Given the description of an element on the screen output the (x, y) to click on. 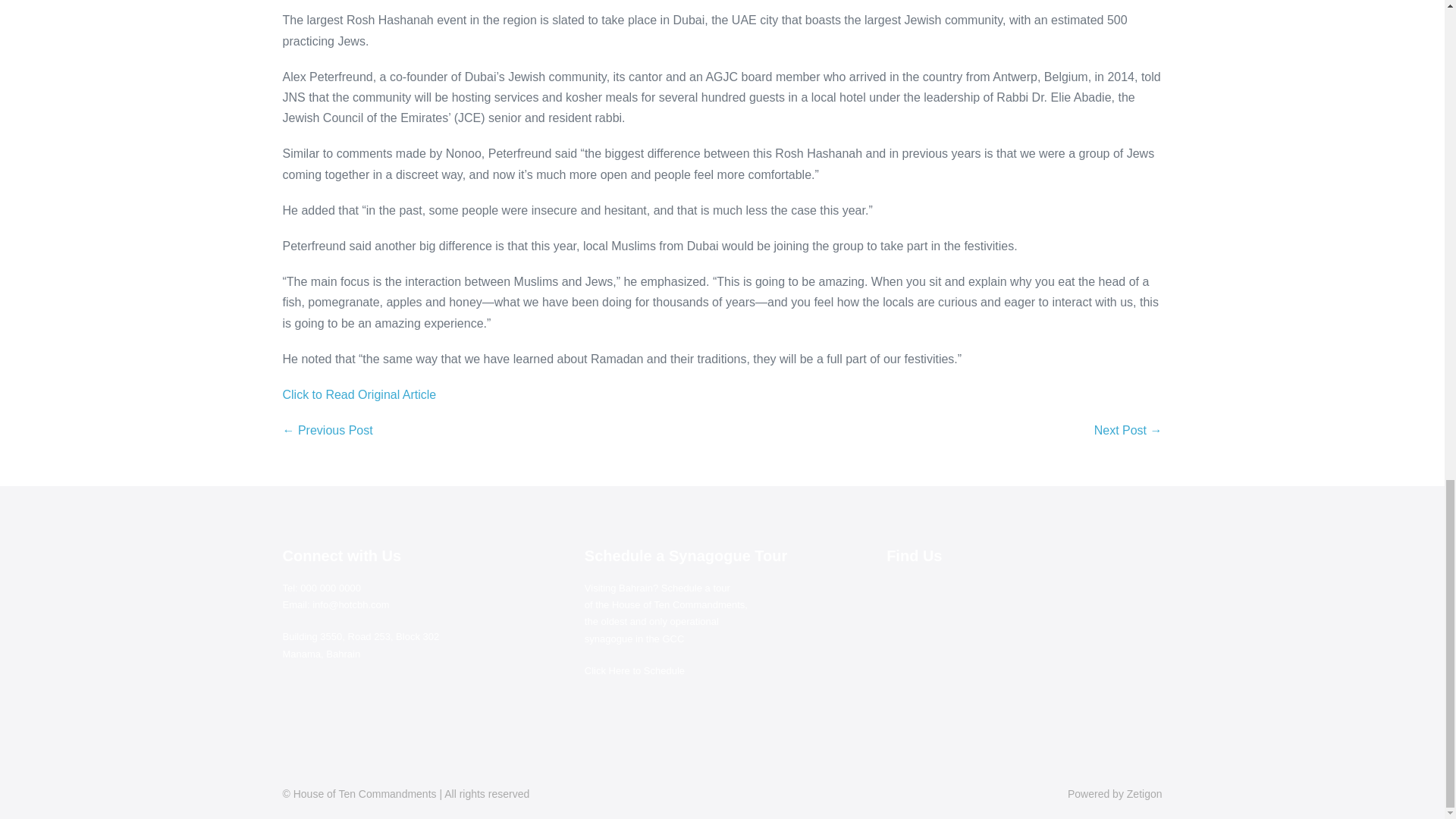
Powered by Zetigon (1114, 793)
Click to Read Original Article (358, 394)
Click Here to Schedule (634, 670)
